Given the description of an element on the screen output the (x, y) to click on. 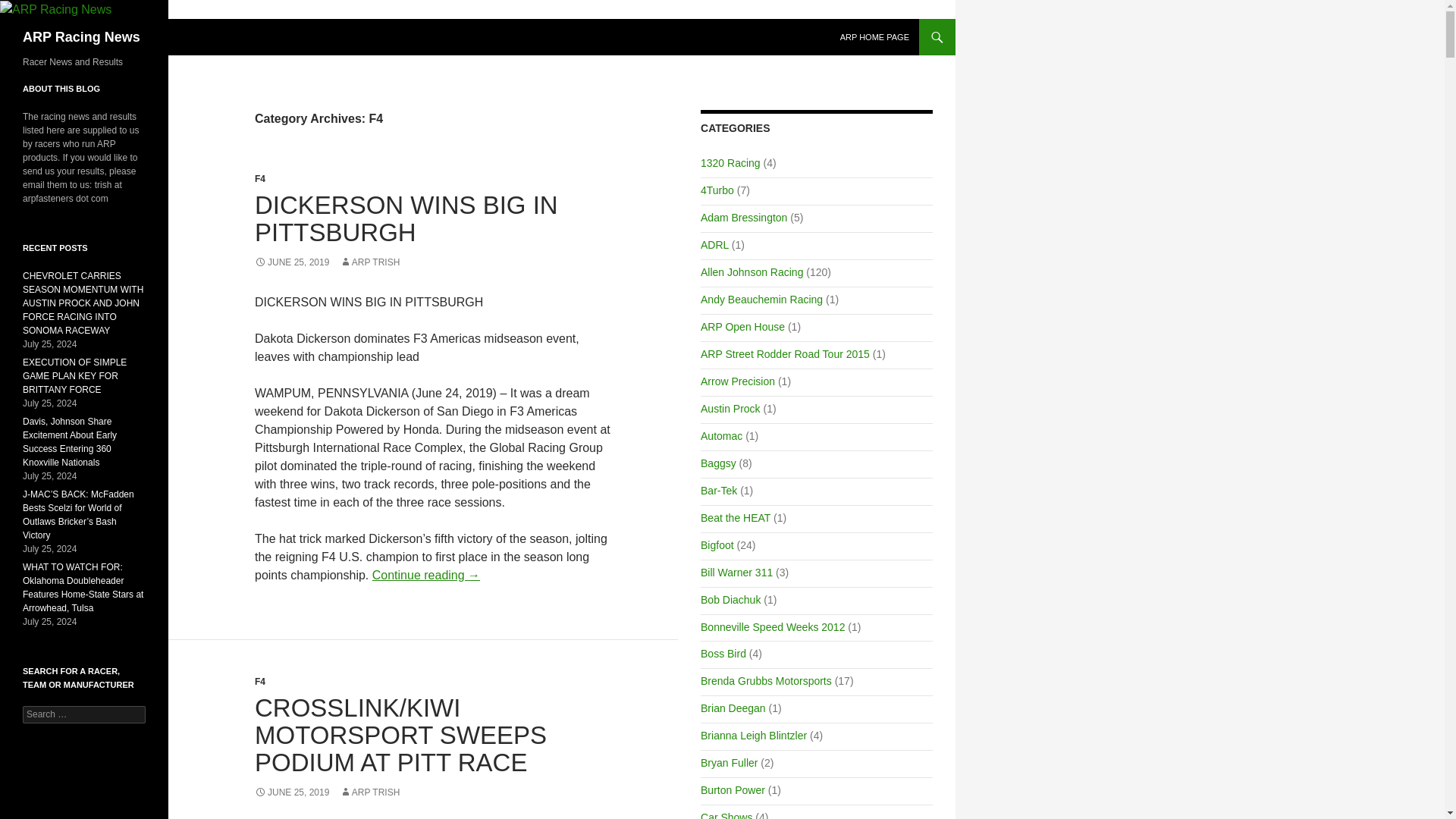
F4 (259, 681)
ARP TRISH (369, 262)
ARP HOME PAGE (874, 36)
DICKERSON WINS BIG IN PITTSBURGH (405, 218)
JUNE 25, 2019 (291, 262)
ARP Racing News (81, 36)
ARP TRISH (369, 792)
JUNE 25, 2019 (291, 792)
F4 (259, 178)
